Given the description of an element on the screen output the (x, y) to click on. 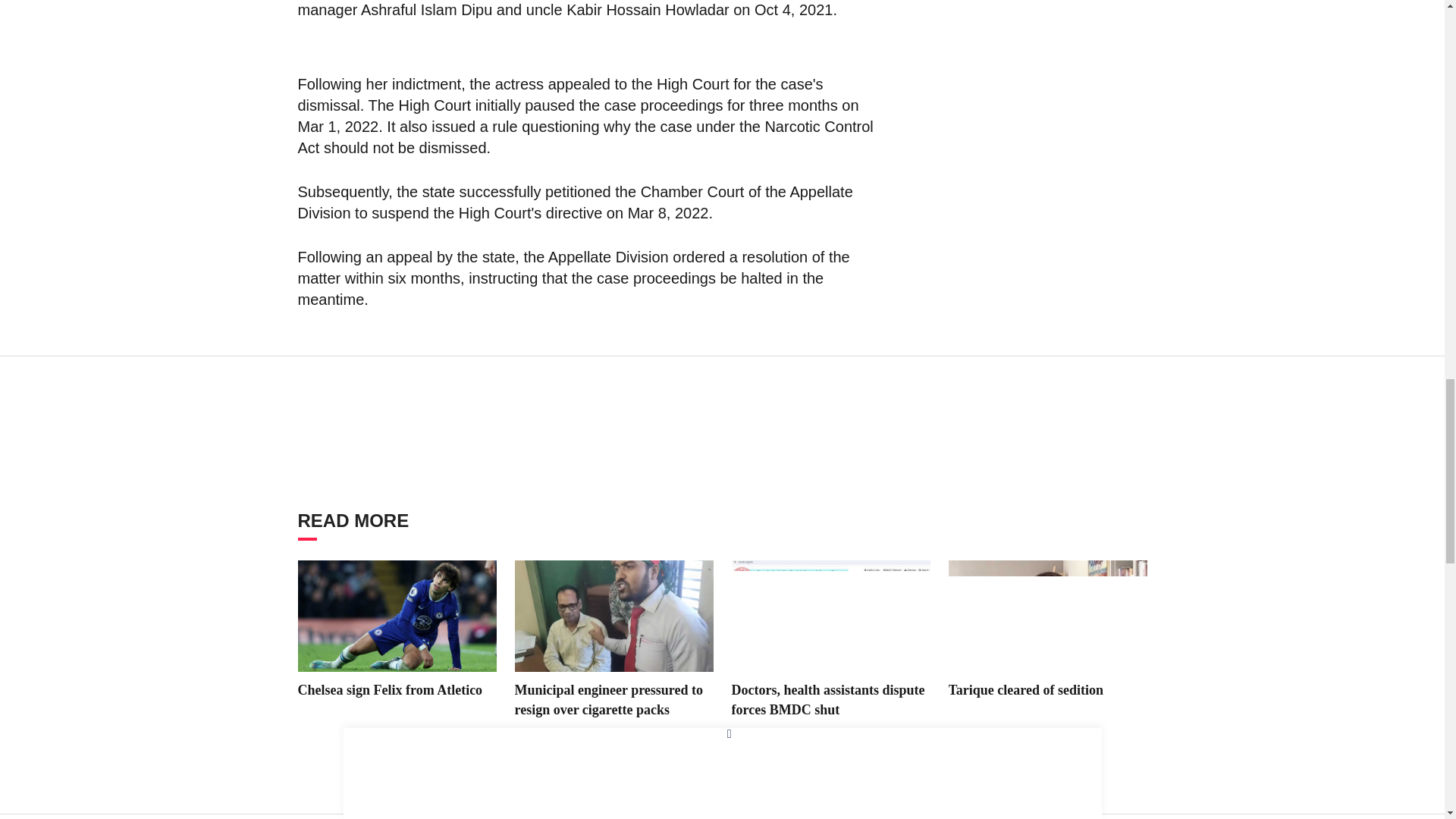
Municipal engineer pressured to resign over cigarette packs (613, 615)
Tarique cleared of sedition (1047, 615)
Chelsea sign Felix from Atletico (396, 615)
Doctors, health assistants dispute forces BMDC shut (830, 615)
